Given the description of an element on the screen output the (x, y) to click on. 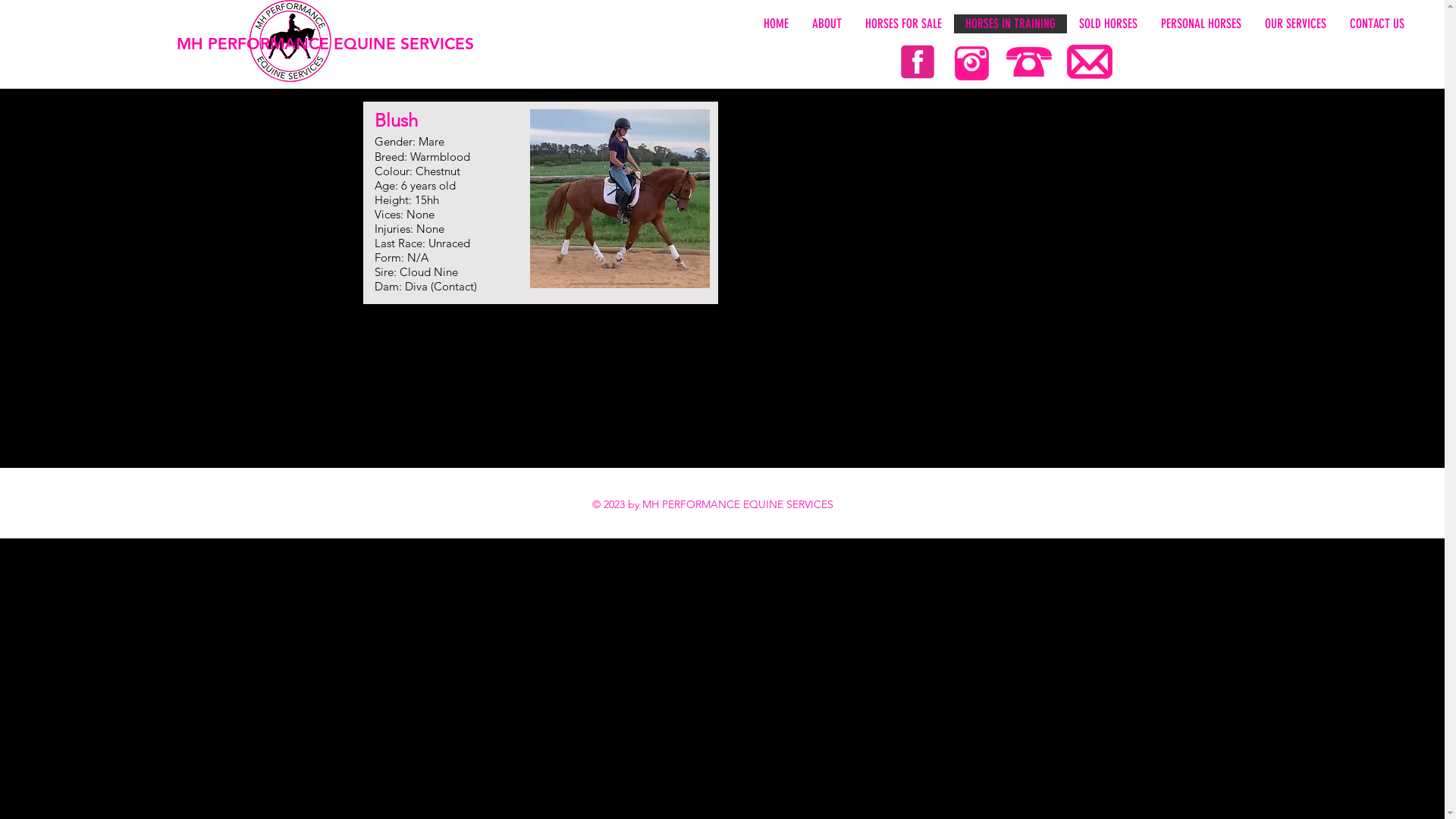
ABOUT Element type: text (826, 23)
OUR SERVICES Element type: text (1294, 23)
HORSES IN TRAINING Element type: text (1009, 23)
CONTACT US Element type: text (1376, 23)
PERSONAL HORSES Element type: text (1200, 23)
SOLD HORSES Element type: text (1107, 23)
HORSES FOR SALE Element type: text (903, 23)
MH PERFORMANCE EQUINE SERVICES Element type: text (334, 43)
LOGO%20WHITE_edited.png Element type: hover (289, 40)
HOME Element type: text (775, 23)
